Given the description of an element on the screen output the (x, y) to click on. 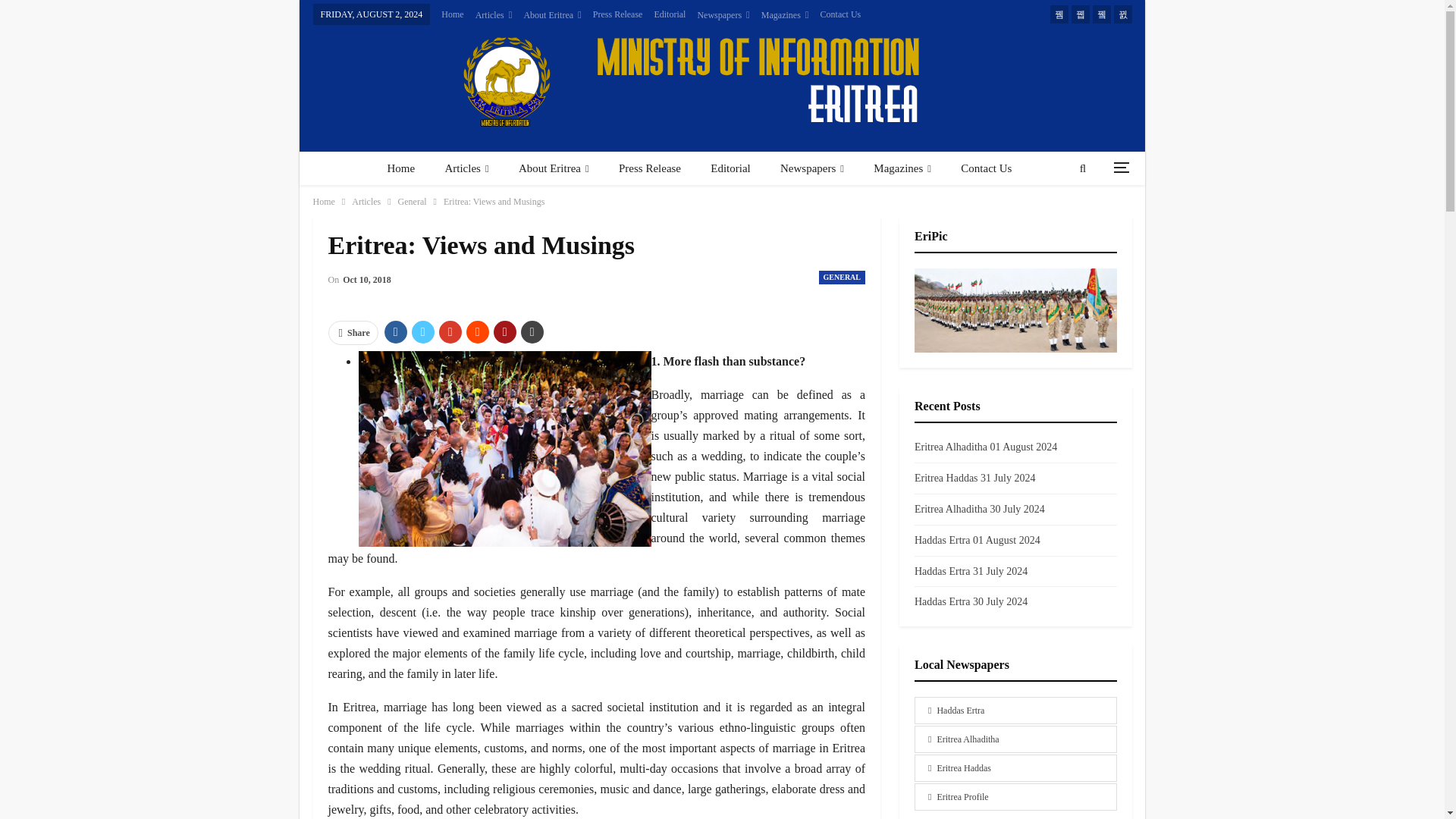
Editorial (685, 14)
Articles (508, 14)
Press Release (633, 14)
Articles (466, 168)
Home (400, 168)
Home (468, 14)
Newspapers (739, 14)
About Eritrea (567, 14)
Contact Us (855, 14)
Magazines (801, 14)
